Given the description of an element on the screen output the (x, y) to click on. 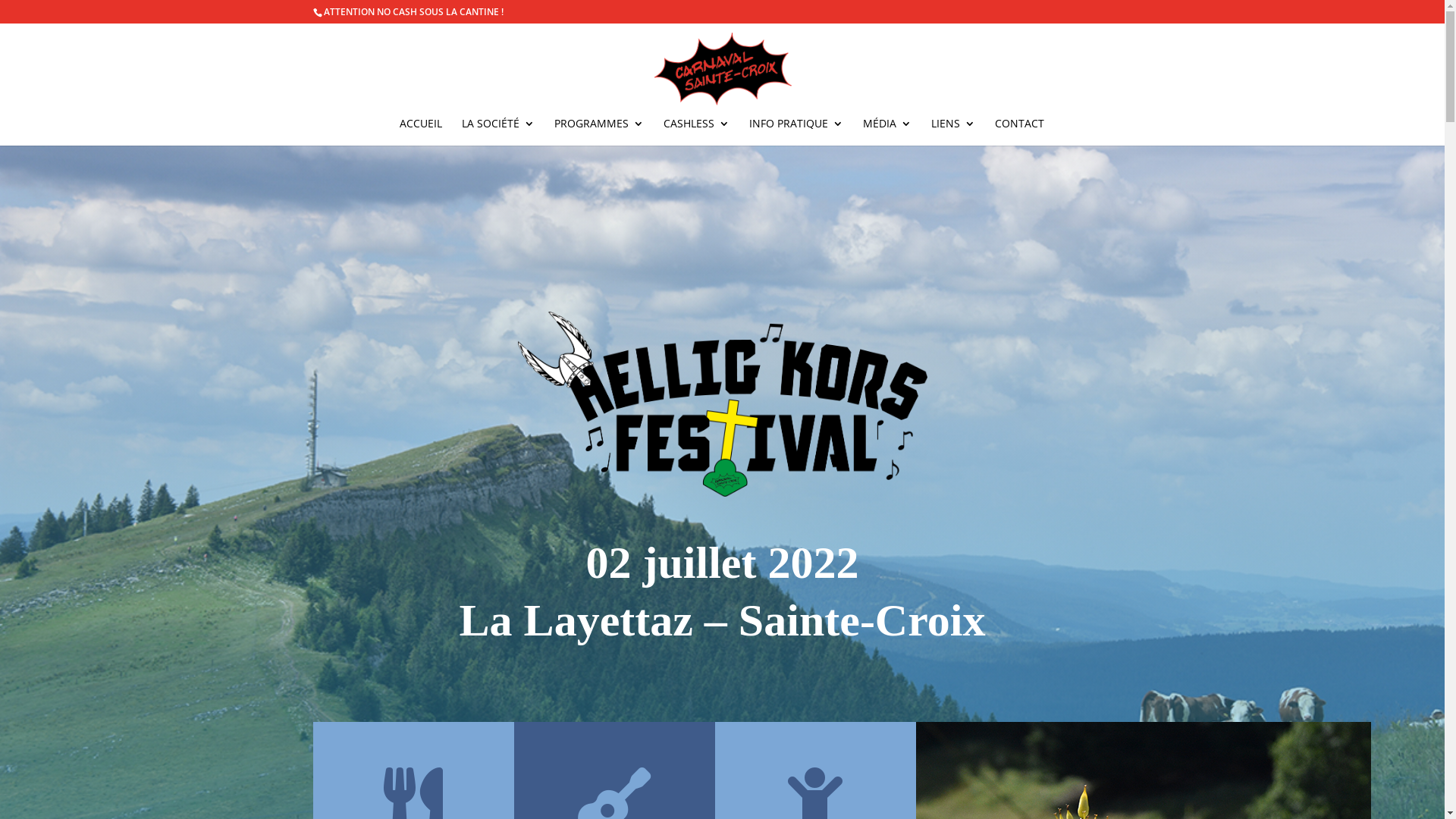
LIENS Element type: text (953, 131)
Logo_Hellig_Kors Element type: hover (721, 403)
ACCUEIL Element type: text (419, 131)
CONTACT Element type: text (1019, 131)
CASHLESS Element type: text (695, 131)
PROGRAMMES Element type: text (598, 131)
INFO PRATIQUE Element type: text (796, 131)
